Given the description of an element on the screen output the (x, y) to click on. 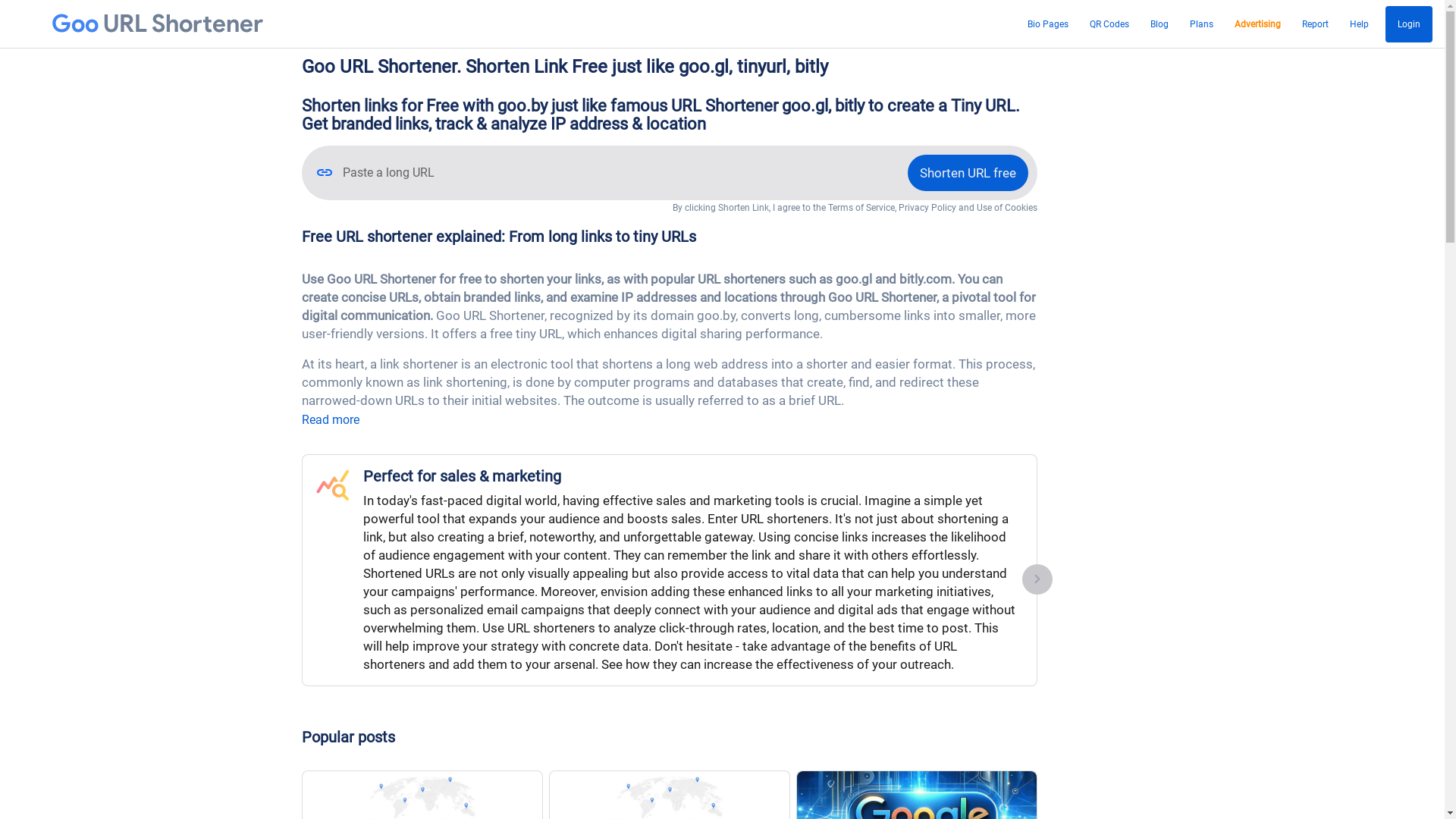
Shorten URL free Element type: text (966, 172)
Plans Element type: text (1201, 24)
Bio Pages Element type: text (1047, 24)
Advertising Element type: text (1257, 24)
Blog Element type: text (1159, 24)
Report Element type: text (1315, 24)
Login Element type: text (1408, 24)
Read more Element type: text (330, 419)
Help Element type: text (1359, 24)
QR Codes Element type: text (1109, 24)
